Given the description of an element on the screen output the (x, y) to click on. 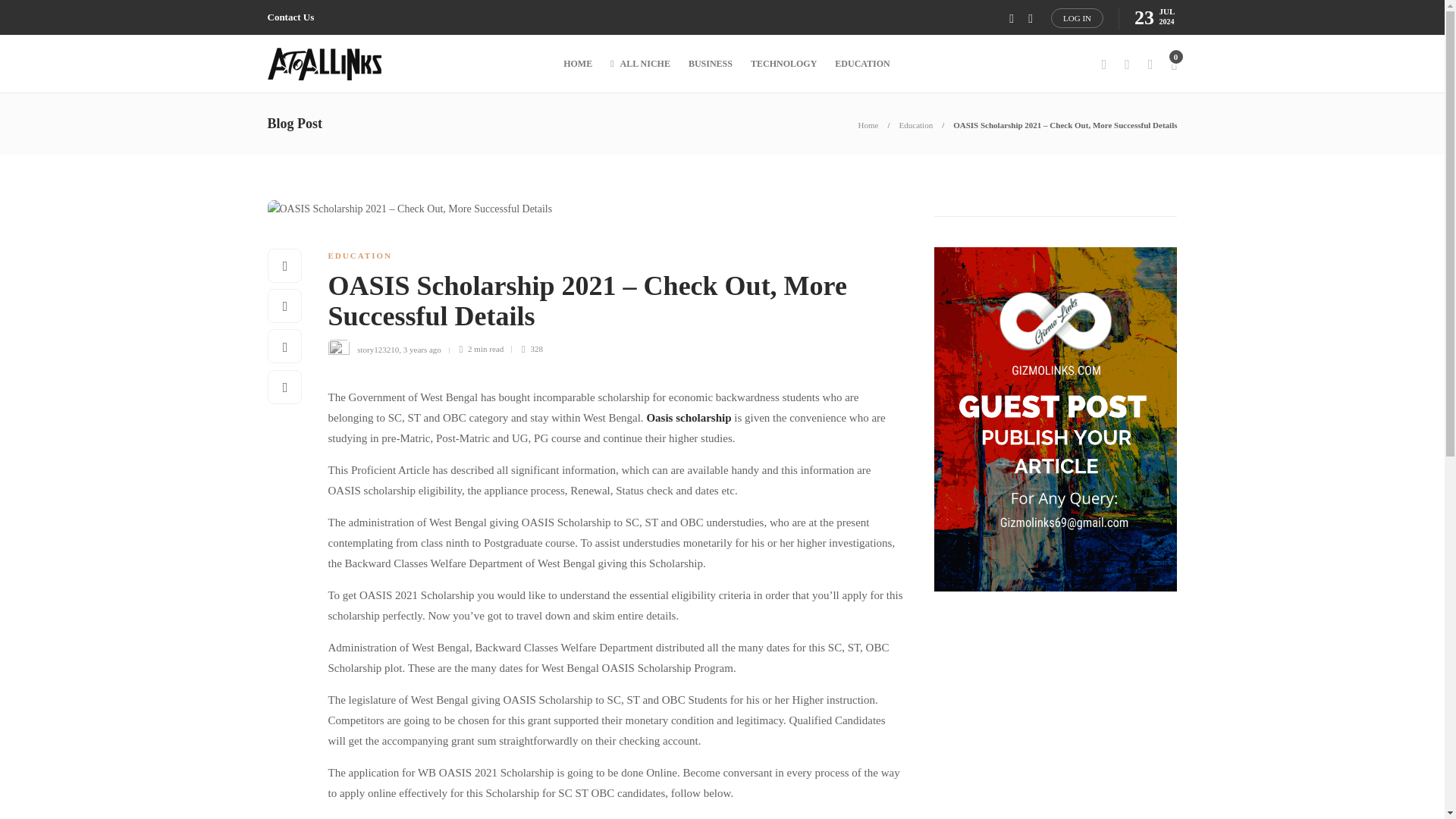
Home (869, 124)
LOG IN (1077, 17)
EDUCATION (359, 255)
TECHNOLOGY (783, 63)
ALL NICHE (639, 63)
HOME (577, 63)
Contact Us (290, 17)
story123210 (377, 347)
Home (869, 124)
EDUCATION (861, 63)
Education (916, 124)
BUSINESS (710, 63)
0 (1173, 63)
